Given the description of an element on the screen output the (x, y) to click on. 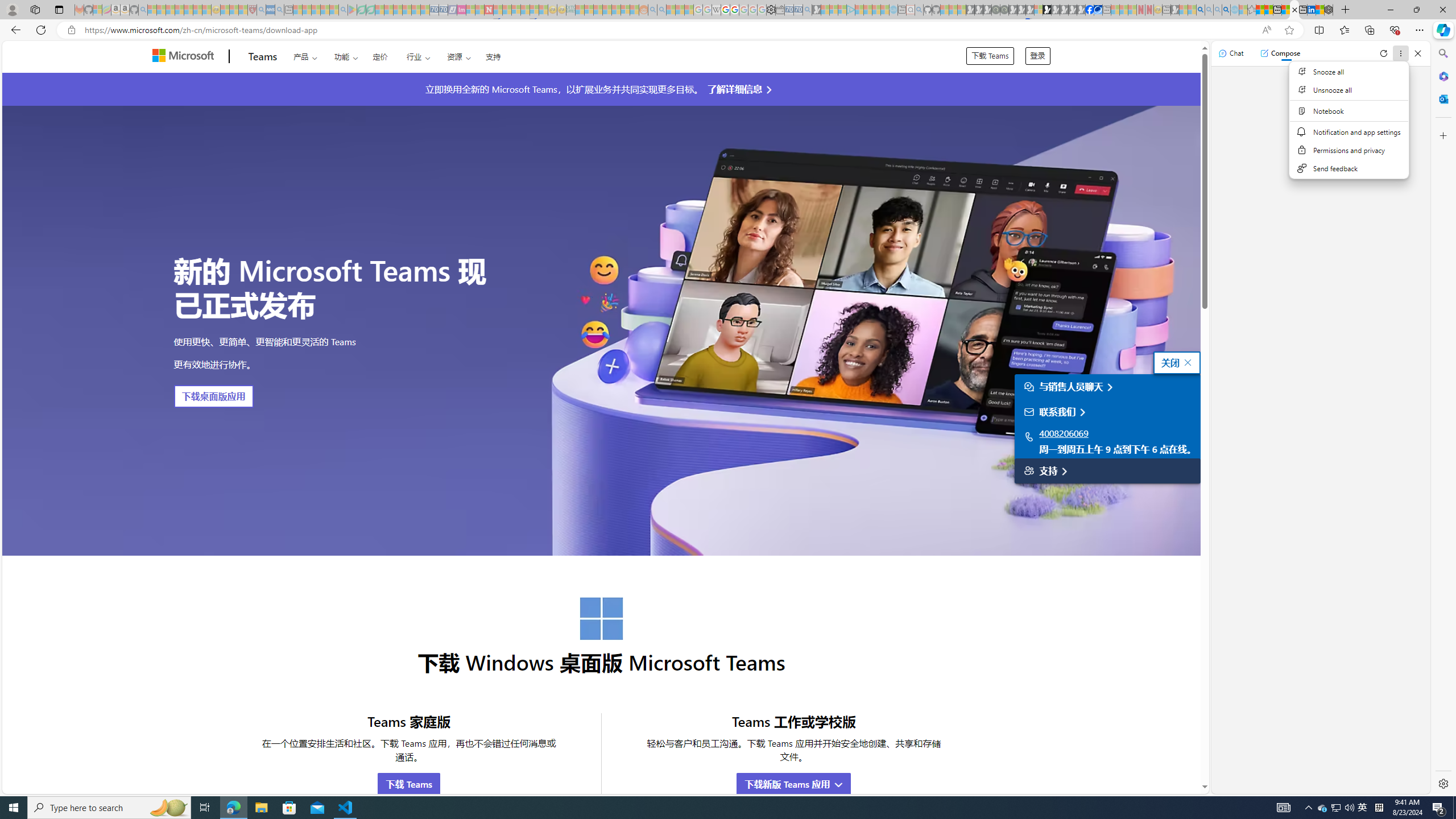
Unsnooze all (1349, 90)
google - Search - Sleeping (342, 9)
Snooze all (1349, 71)
Local - MSN - Sleeping (242, 9)
Home | Sky Blue Bikes - Sky Blue Bikes - Sleeping (892, 9)
Kinda Frugal - MSN - Sleeping (616, 9)
